Given the description of an element on the screen output the (x, y) to click on. 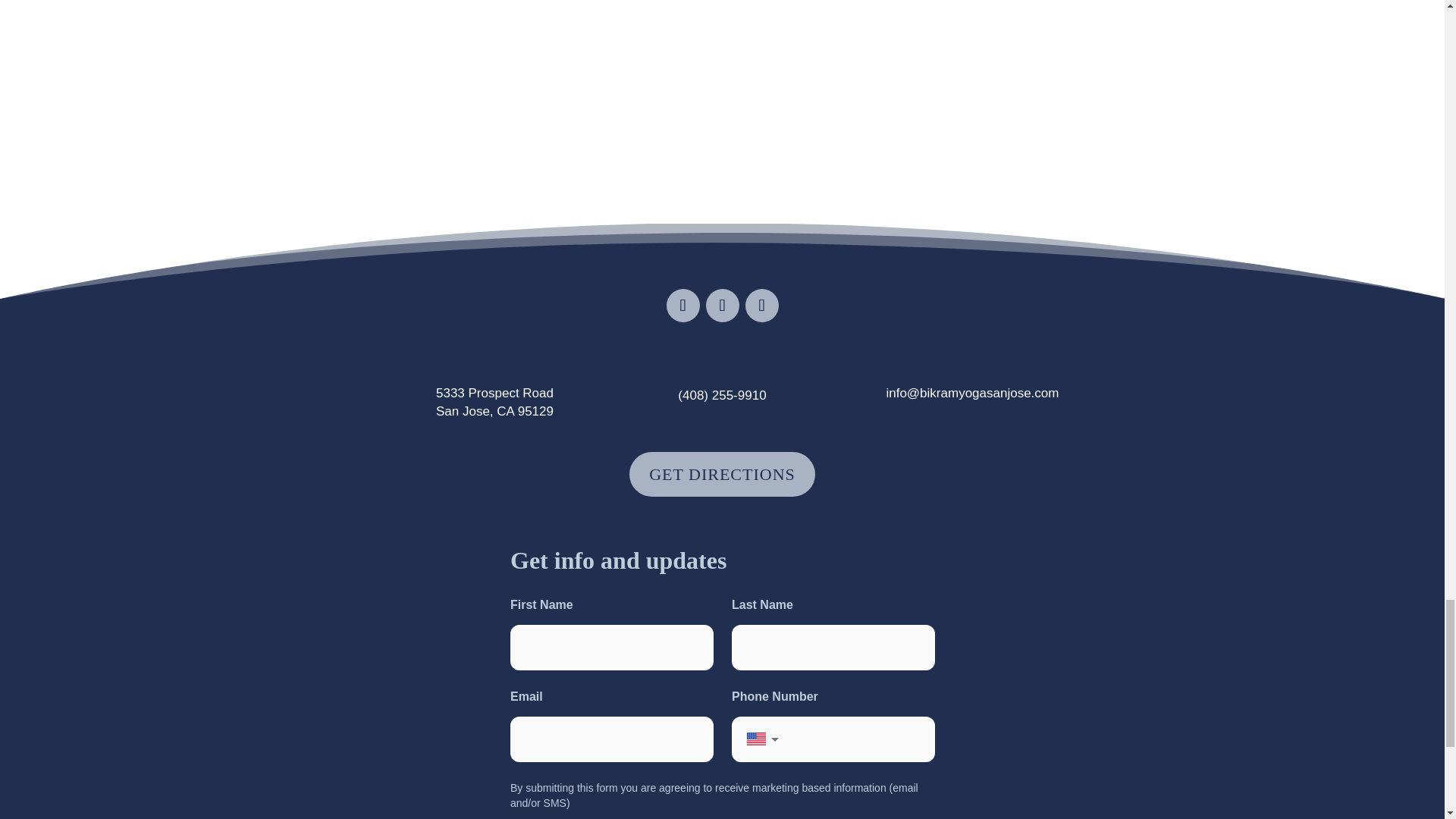
Follow on Youtube (760, 305)
Follow on Facebook (681, 305)
Follow on Instagram (721, 305)
